Given the description of an element on the screen output the (x, y) to click on. 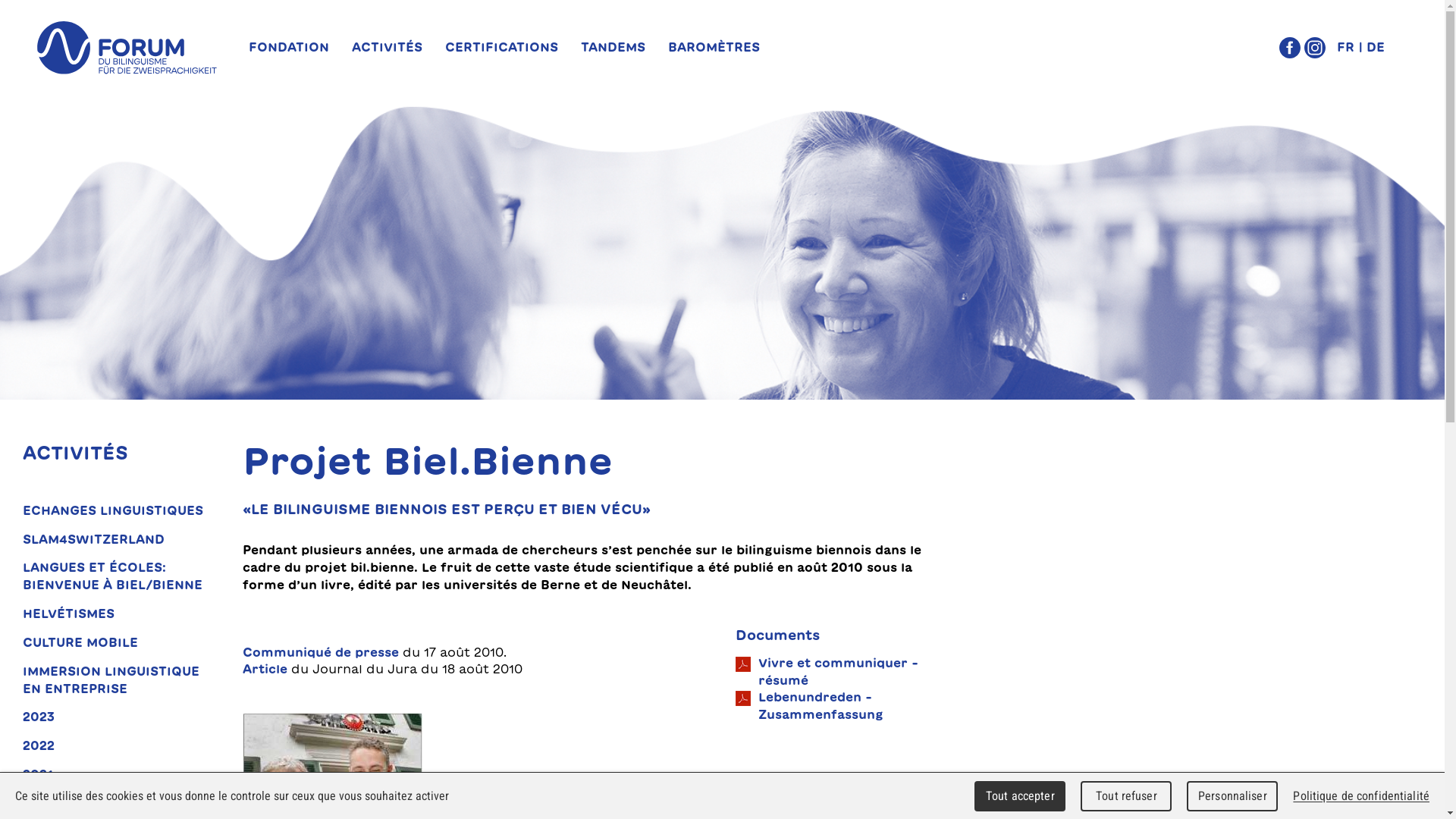
TANDEMS Element type: text (612, 47)
Tout accepter Element type: text (1019, 796)
2022 Element type: text (117, 745)
Tout refuser Element type: text (1125, 796)
2021 Element type: text (117, 774)
SLAM4SWITZERLAND Element type: text (117, 539)
ECHANGES LINGUISTIQUES Element type: text (117, 510)
Personnaliser Element type: text (1231, 796)
2020 Element type: text (117, 803)
IMMERSION LINGUISTIQUE EN ENTREPRISE Element type: text (117, 679)
CERTIFICATIONS Element type: text (501, 47)
2023 Element type: text (117, 716)
Lebenundreden - Zusammenfassung Element type: text (833, 705)
Article Element type: text (264, 668)
DE Element type: text (1373, 47)
FONDATION Element type: text (294, 47)
CULTURE MOBILE Element type: text (117, 642)
